Given the description of an element on the screen output the (x, y) to click on. 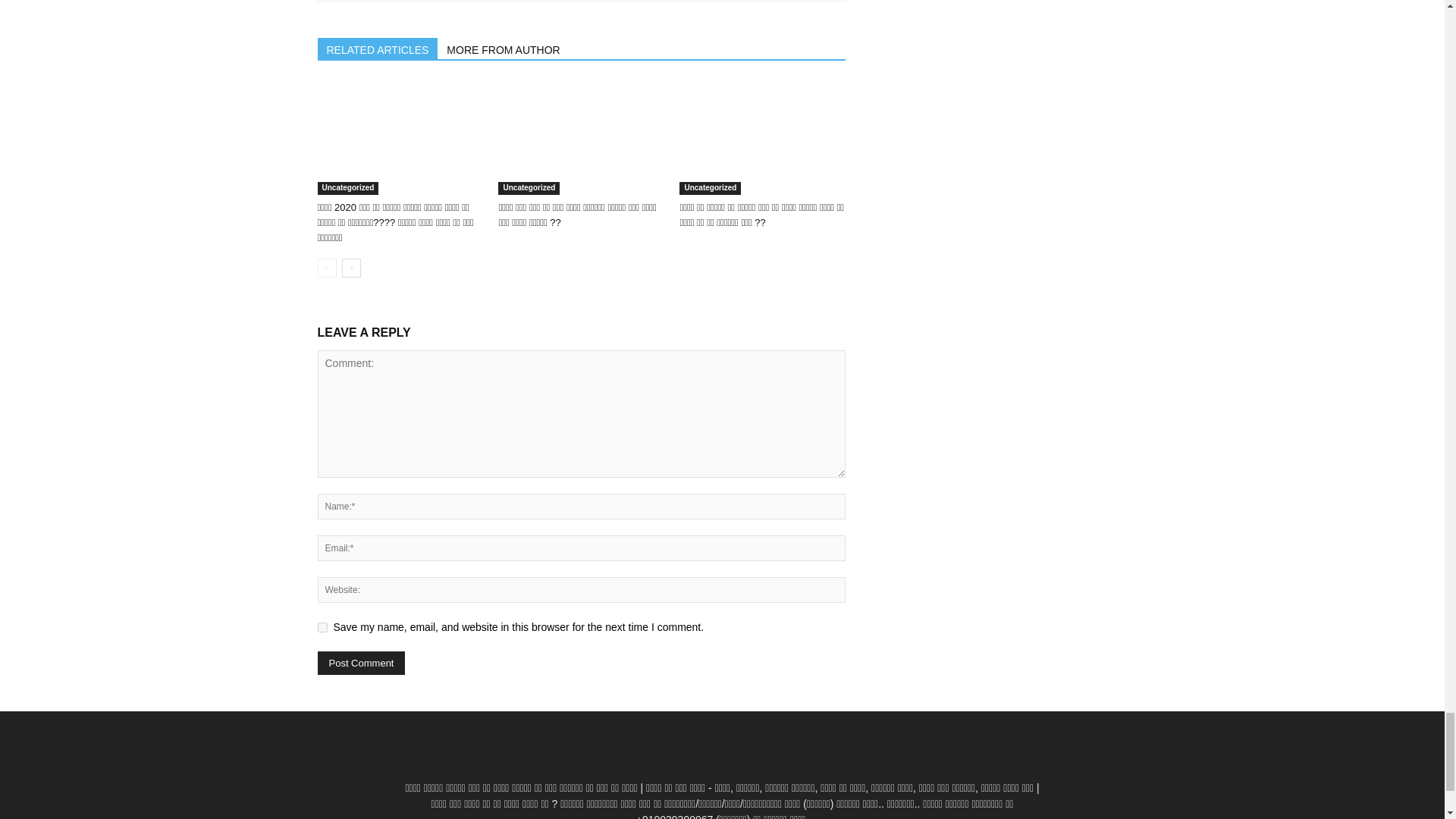
Post Comment (360, 662)
yes (321, 627)
